Given the description of an element on the screen output the (x, y) to click on. 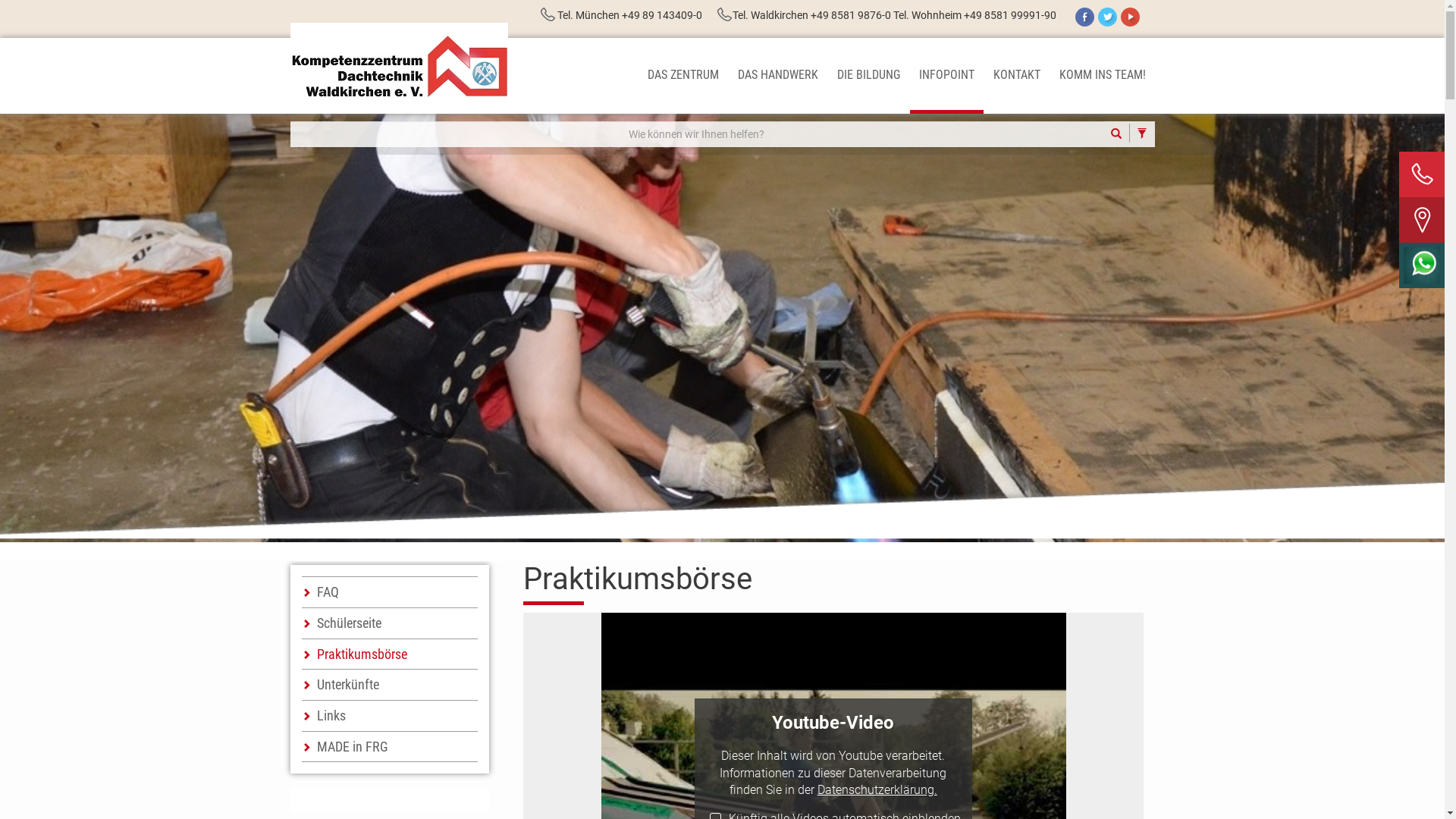
YouTube Element type: text (1129, 16)
Links Element type: text (389, 715)
FAQ Element type: text (389, 592)
KONTAKT Element type: text (1016, 75)
Facebook Element type: text (1084, 16)
DAS ZENTRUM Element type: text (683, 75)
MADE in FRG Element type: text (389, 746)
DAS HANDWERK Element type: text (777, 75)
Kompetenzzentrum Dachtechnik Waldkirchen Element type: hover (398, 59)
DIE BILDUNG Element type: text (868, 75)
Twitter Element type: text (1107, 16)
KOMM INS TEAM! Element type: text (1101, 75)
INFOPOINT Element type: text (946, 75)
